Given the description of an element on the screen output the (x, y) to click on. 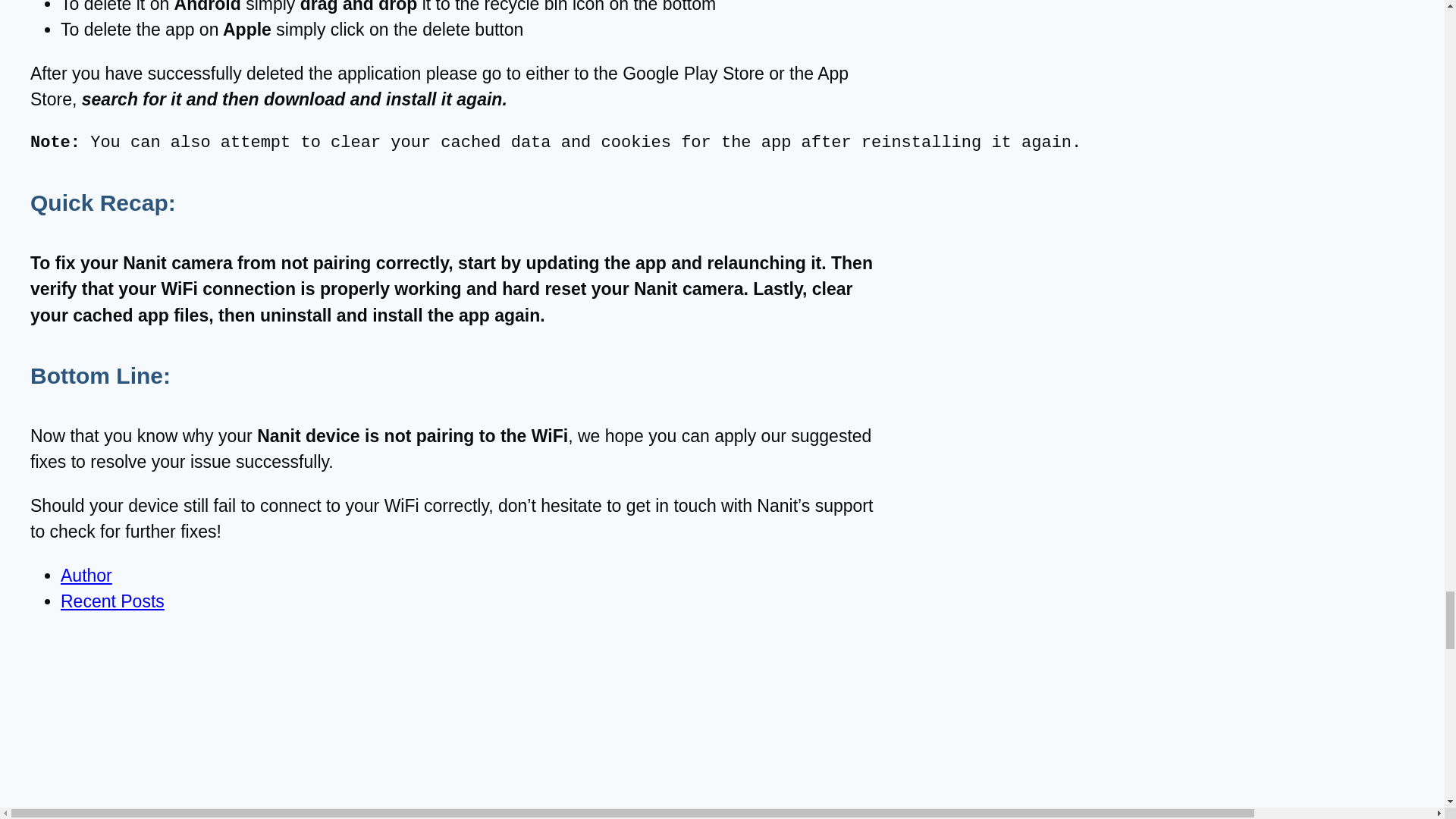
Nicole B (124, 812)
Your Nanit Won't Pair? - Complete Fix Guide 10 (124, 725)
Author (86, 575)
Recent Posts (112, 600)
